Given the description of an element on the screen output the (x, y) to click on. 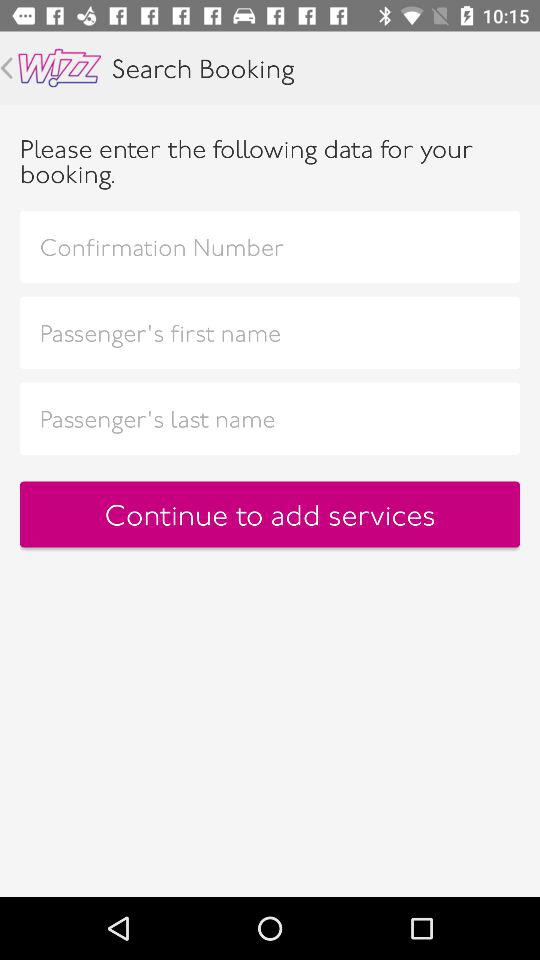
go to previous page (6, 67)
